Given the description of an element on the screen output the (x, y) to click on. 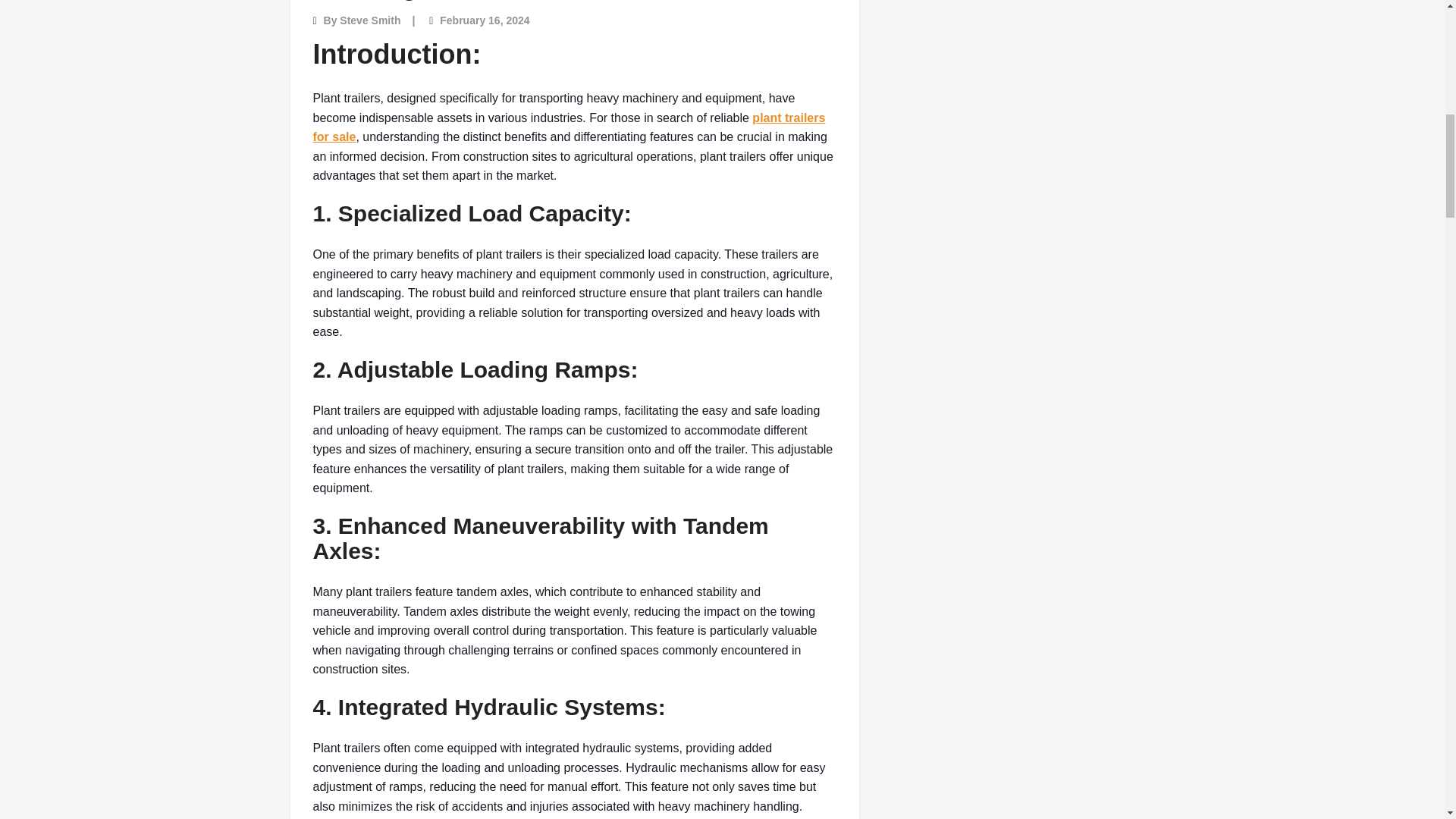
Steve Smith (369, 20)
plant trailers for sale (569, 127)
February 16, 2024 (484, 20)
